Given the description of an element on the screen output the (x, y) to click on. 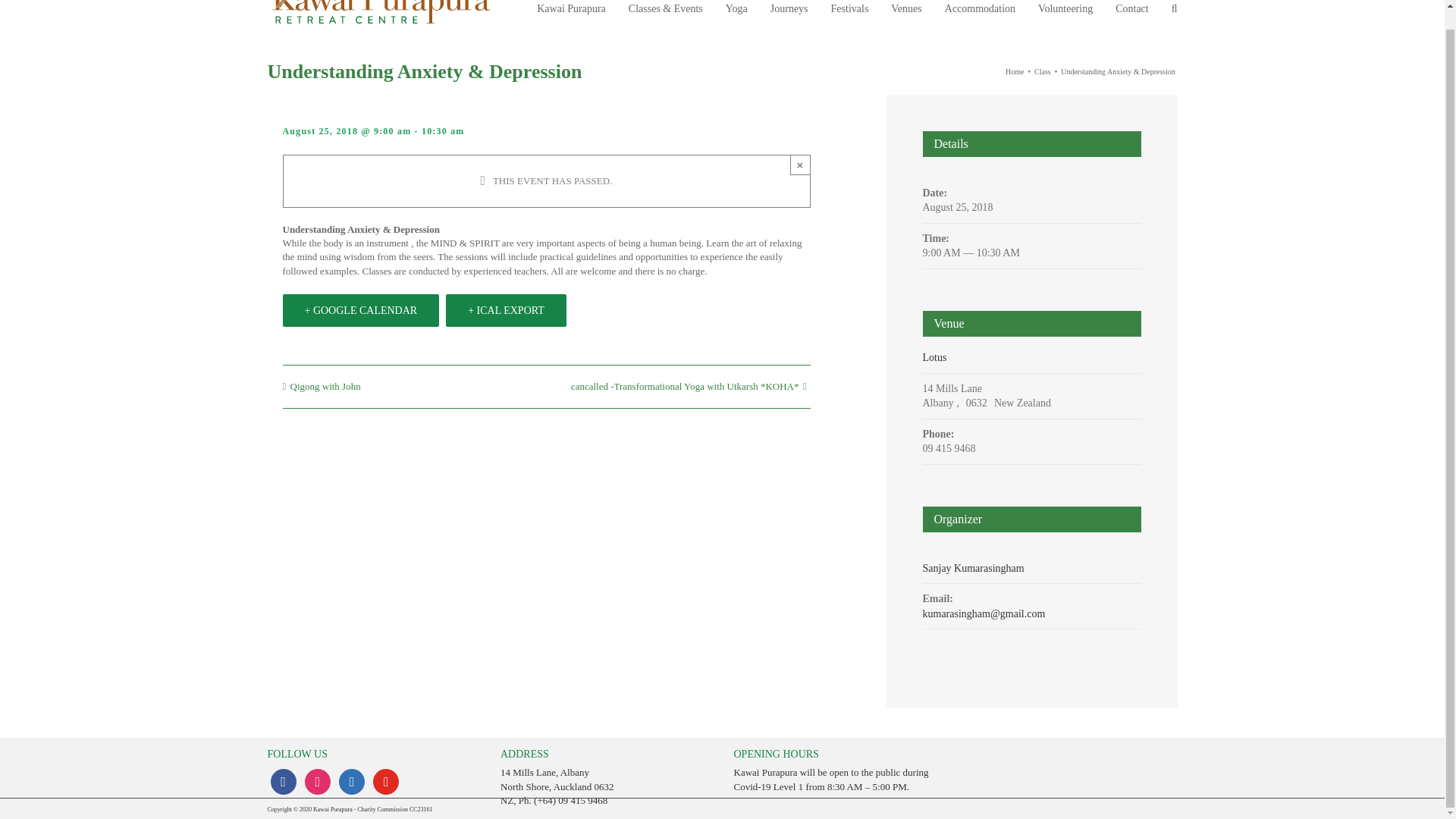
Facebook (282, 781)
Twitter (352, 781)
Add to Google Calendar (360, 310)
Class (1042, 71)
Accommodation (979, 17)
Journeys (789, 17)
Sanjay Kumarasingham (972, 568)
Contact (1131, 17)
Download .ics file (505, 310)
Default Label (385, 781)
